Given the description of an element on the screen output the (x, y) to click on. 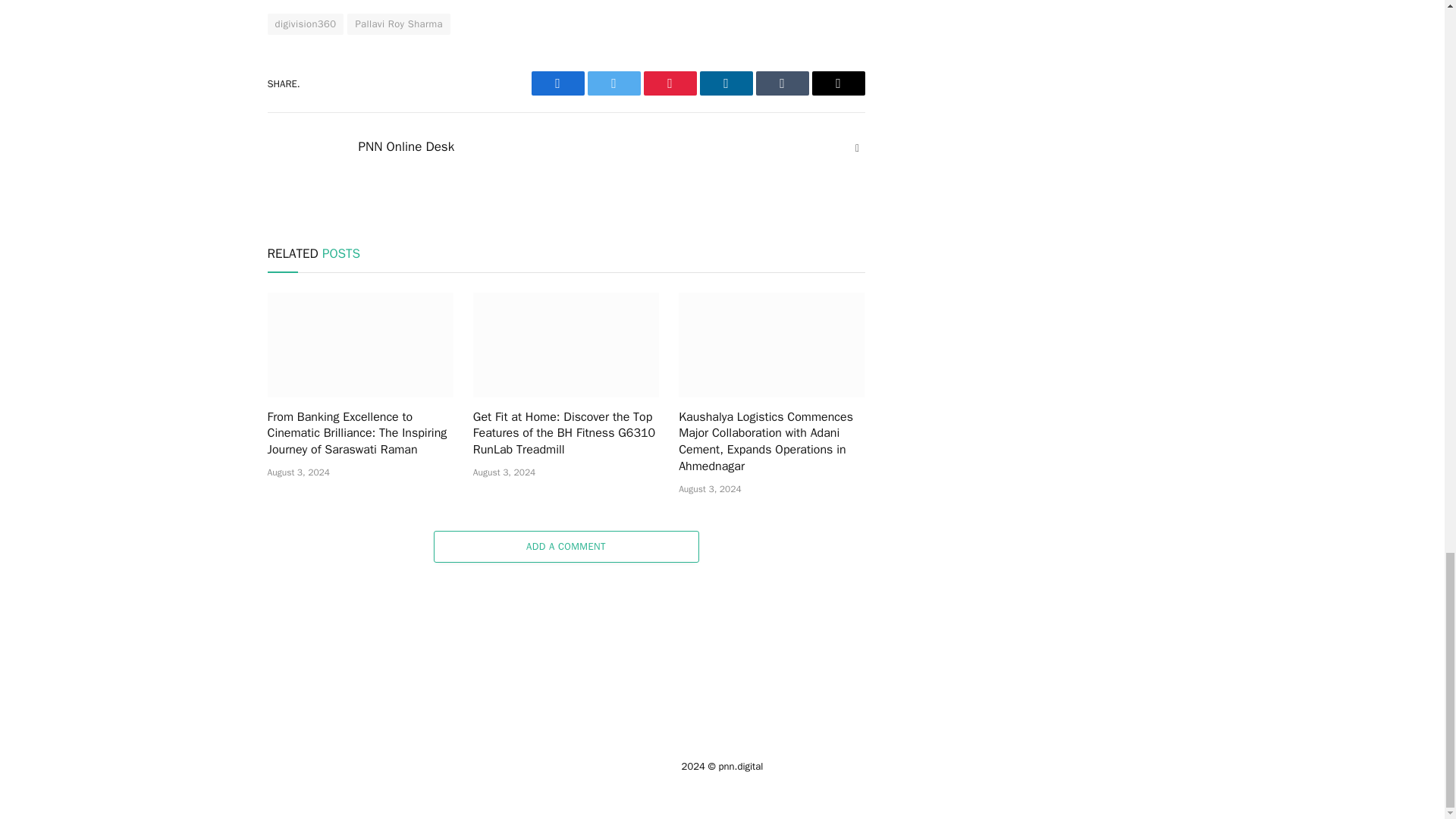
digivision360 (304, 24)
